Given the description of an element on the screen output the (x, y) to click on. 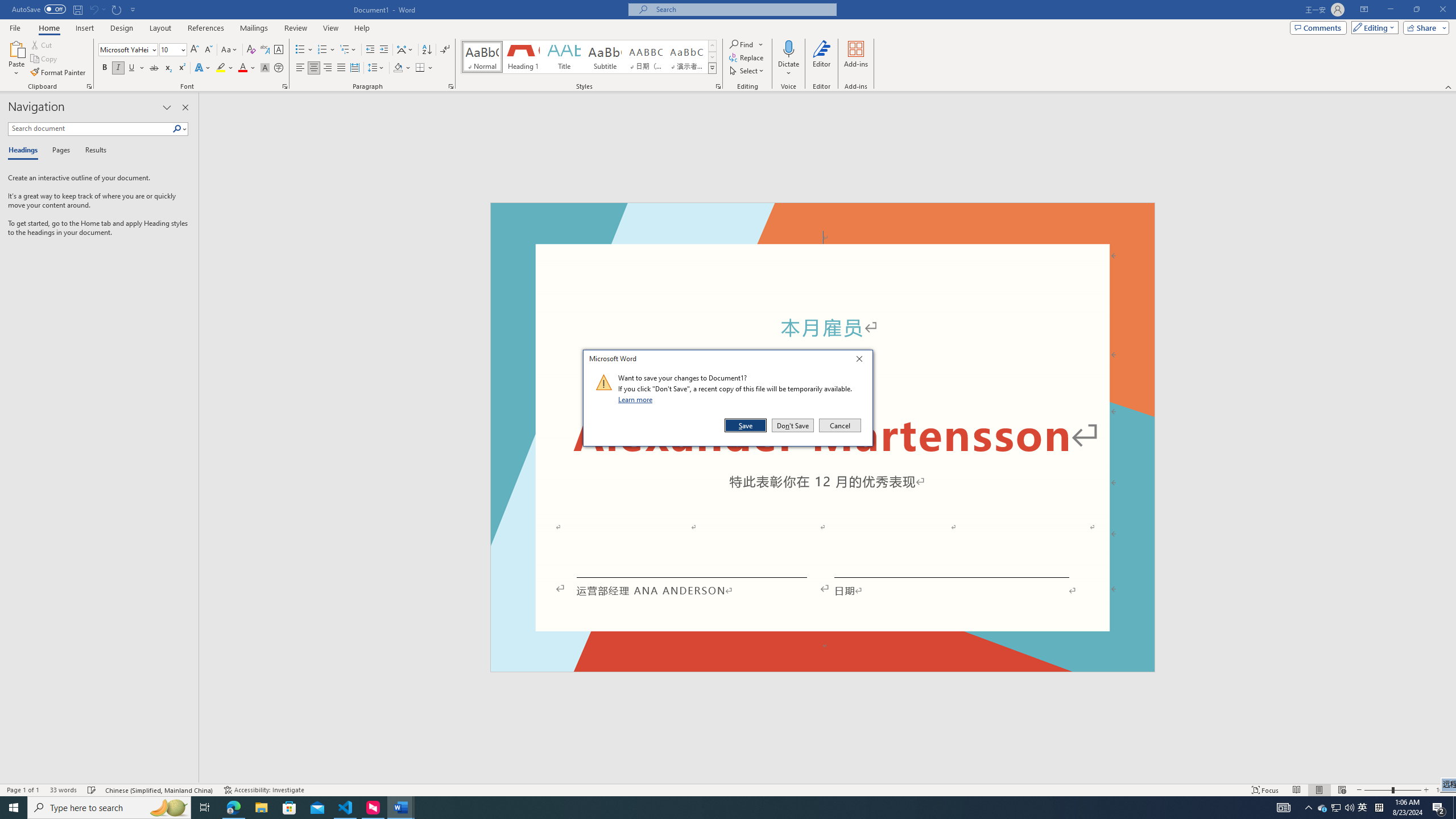
Character Border (278, 49)
Replace... (747, 56)
Start (13, 807)
